Given the description of an element on the screen output the (x, y) to click on. 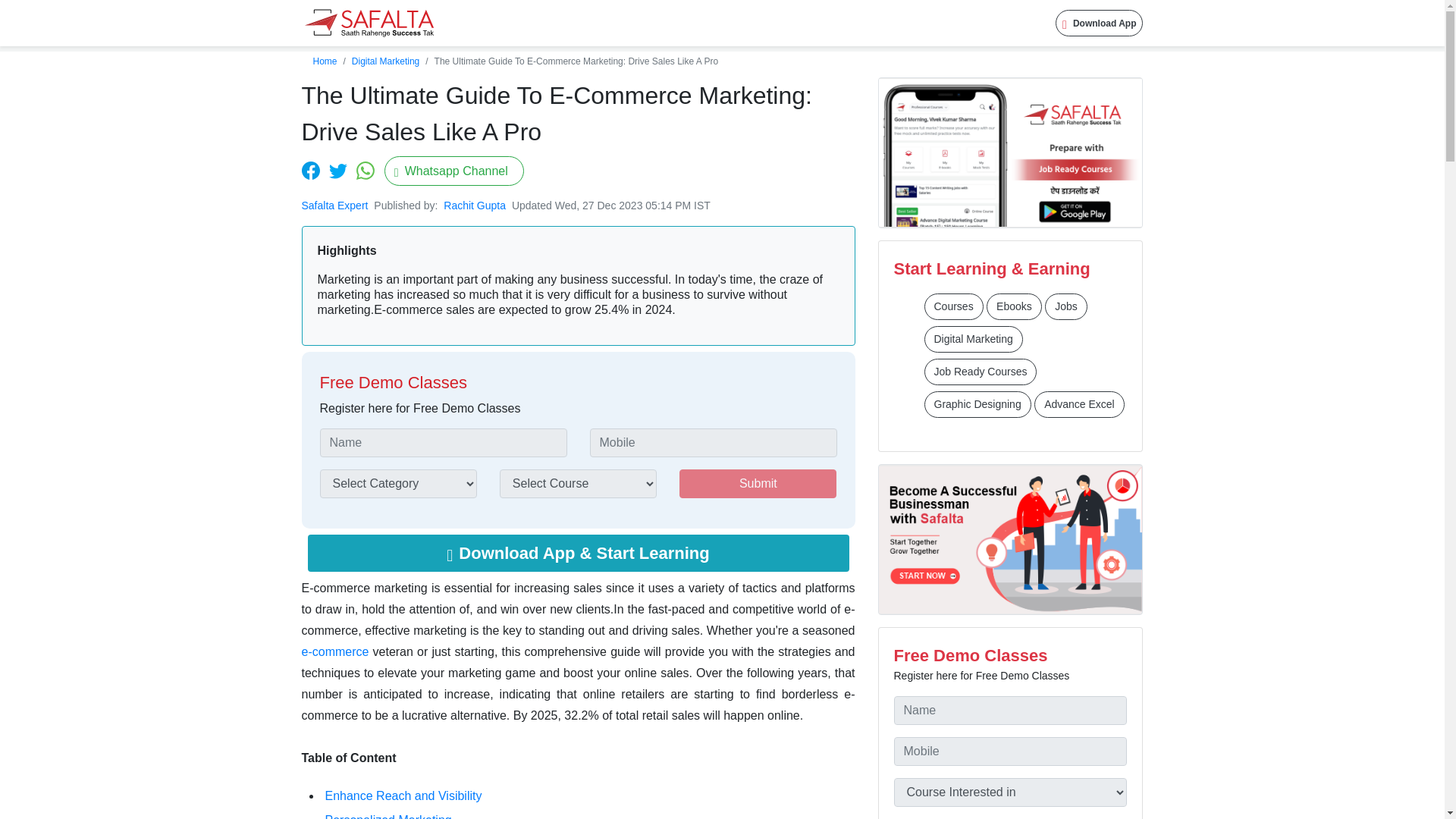
Start learning with - Courses (952, 306)
Start learning with - Graphic Designing (976, 404)
Enhance Reach and Visibility (402, 795)
Safalta Exam Preparation Online (368, 22)
Visit Rachit's Profile (476, 205)
Start learning with - Advance Excel (1078, 404)
Safalta Expert (334, 205)
Rachit Gupta (476, 205)
follow our whatsapp channel (454, 170)
Start learning with - Jobs (1066, 306)
Start learning with - Digital Marketing (972, 338)
Start learning with - Job Ready Courses (979, 371)
Submit (757, 483)
Start learning with - Ebooks (1014, 306)
Download App (1098, 22)
